Given the description of an element on the screen output the (x, y) to click on. 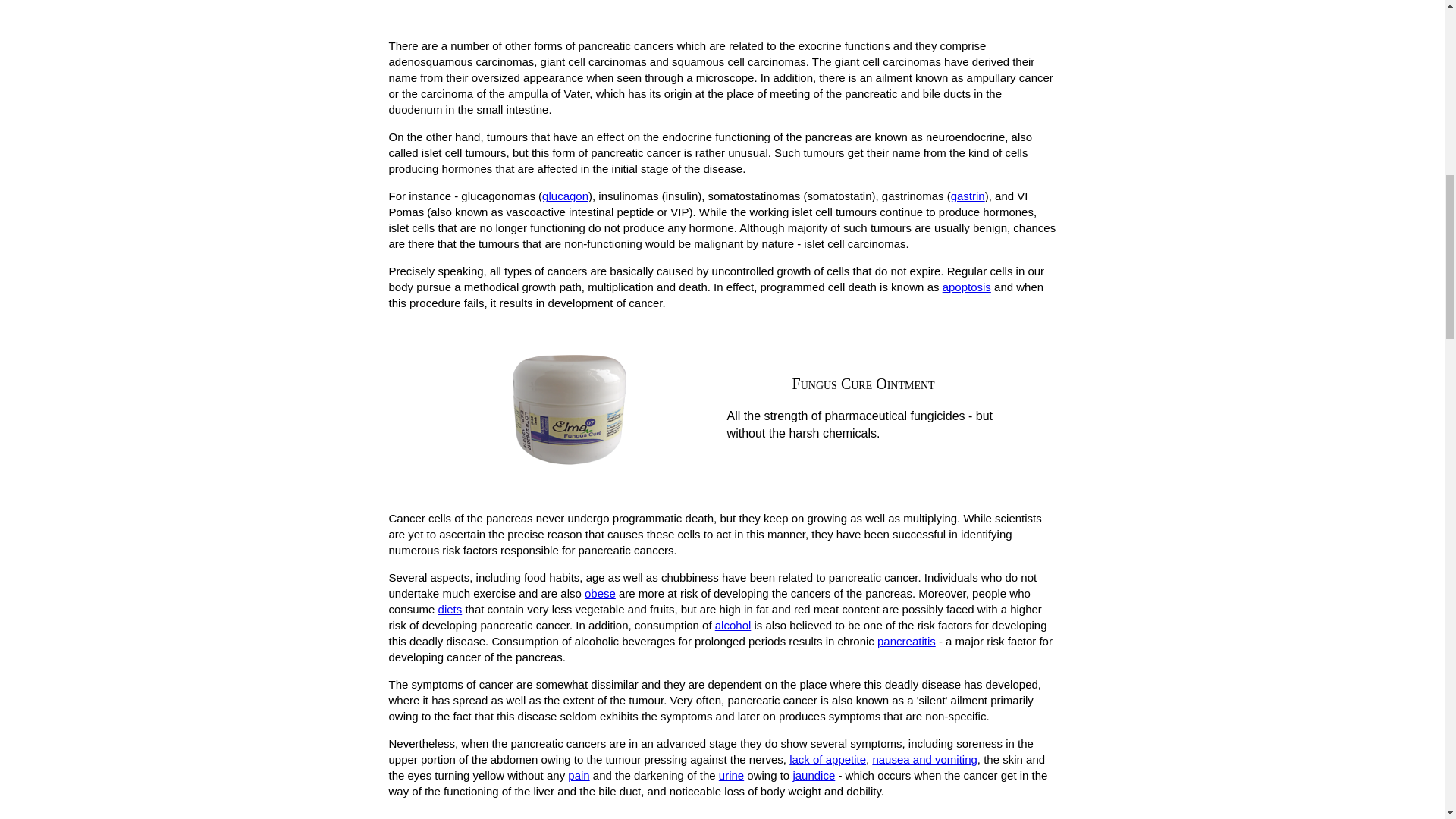
obese (600, 593)
pancreatitis (906, 640)
glucagon (564, 195)
alcohol (732, 625)
apoptosis (966, 286)
diets (450, 608)
lack of appetite (827, 758)
gastrin (967, 195)
